Given the description of an element on the screen output the (x, y) to click on. 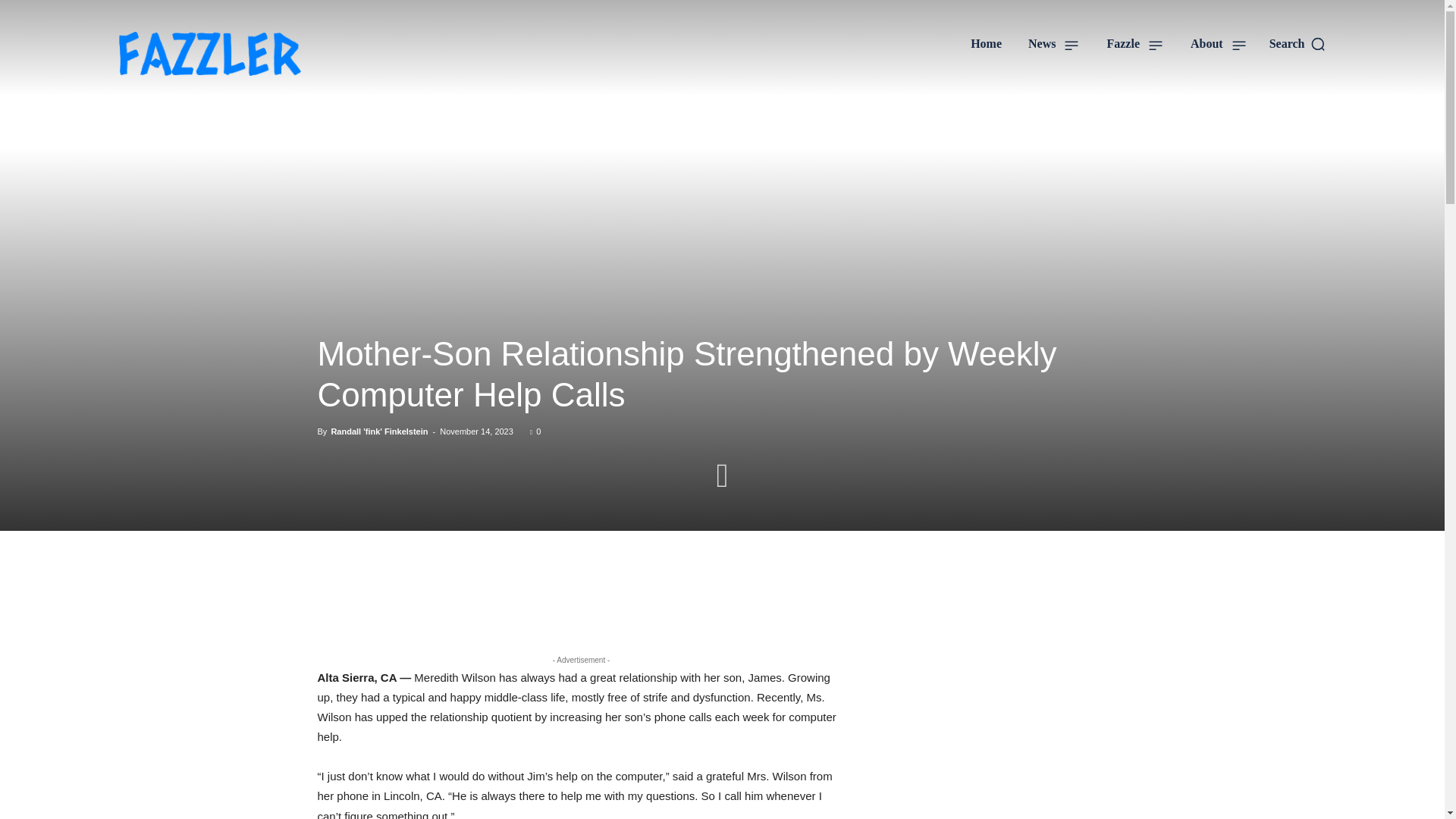
topFacebookLike (430, 575)
News (1054, 43)
Fazzle (1134, 43)
About (1218, 43)
Home (986, 43)
